Given the description of an element on the screen output the (x, y) to click on. 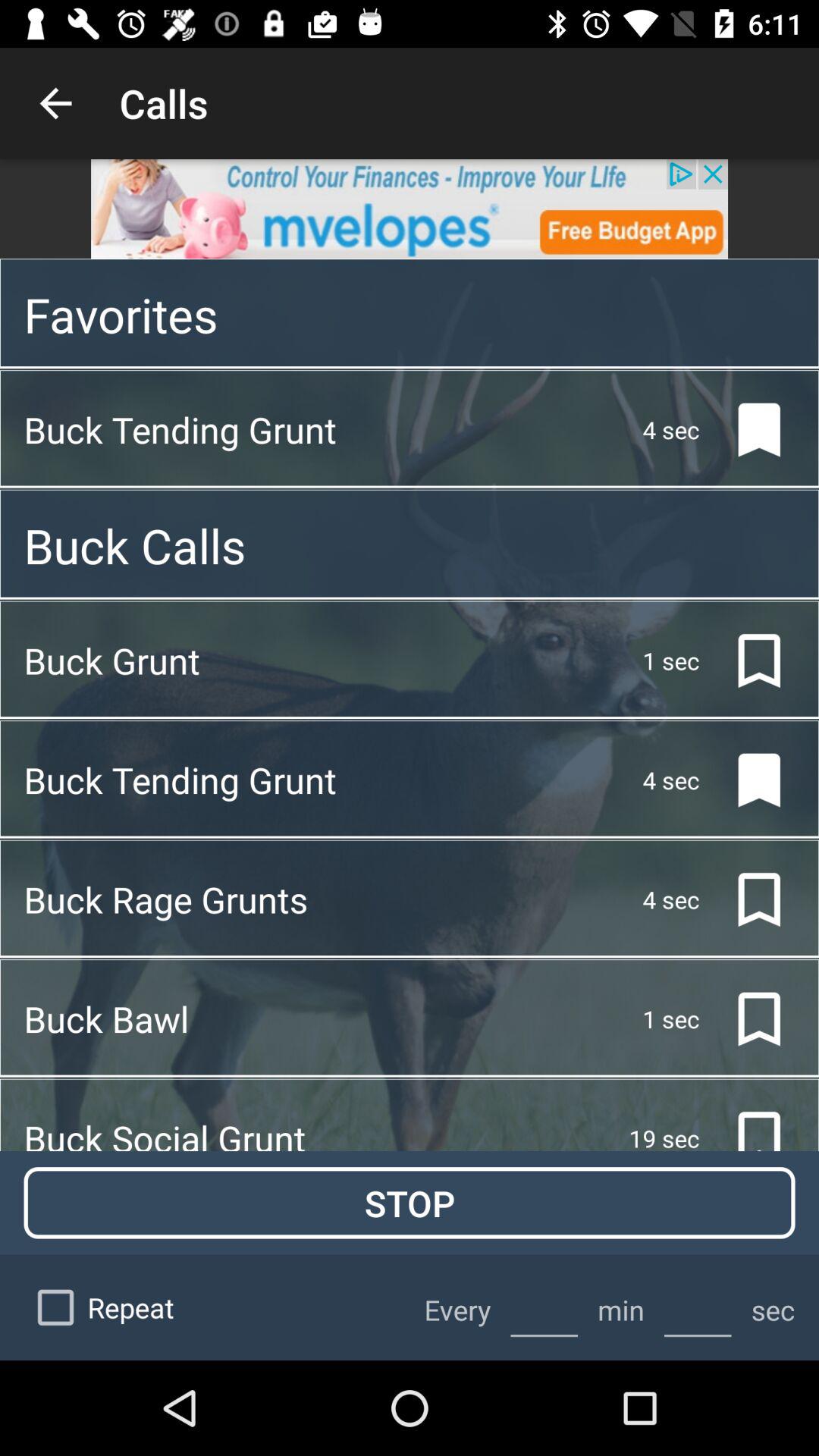
click to time column (543, 1307)
